Given the description of an element on the screen output the (x, y) to click on. 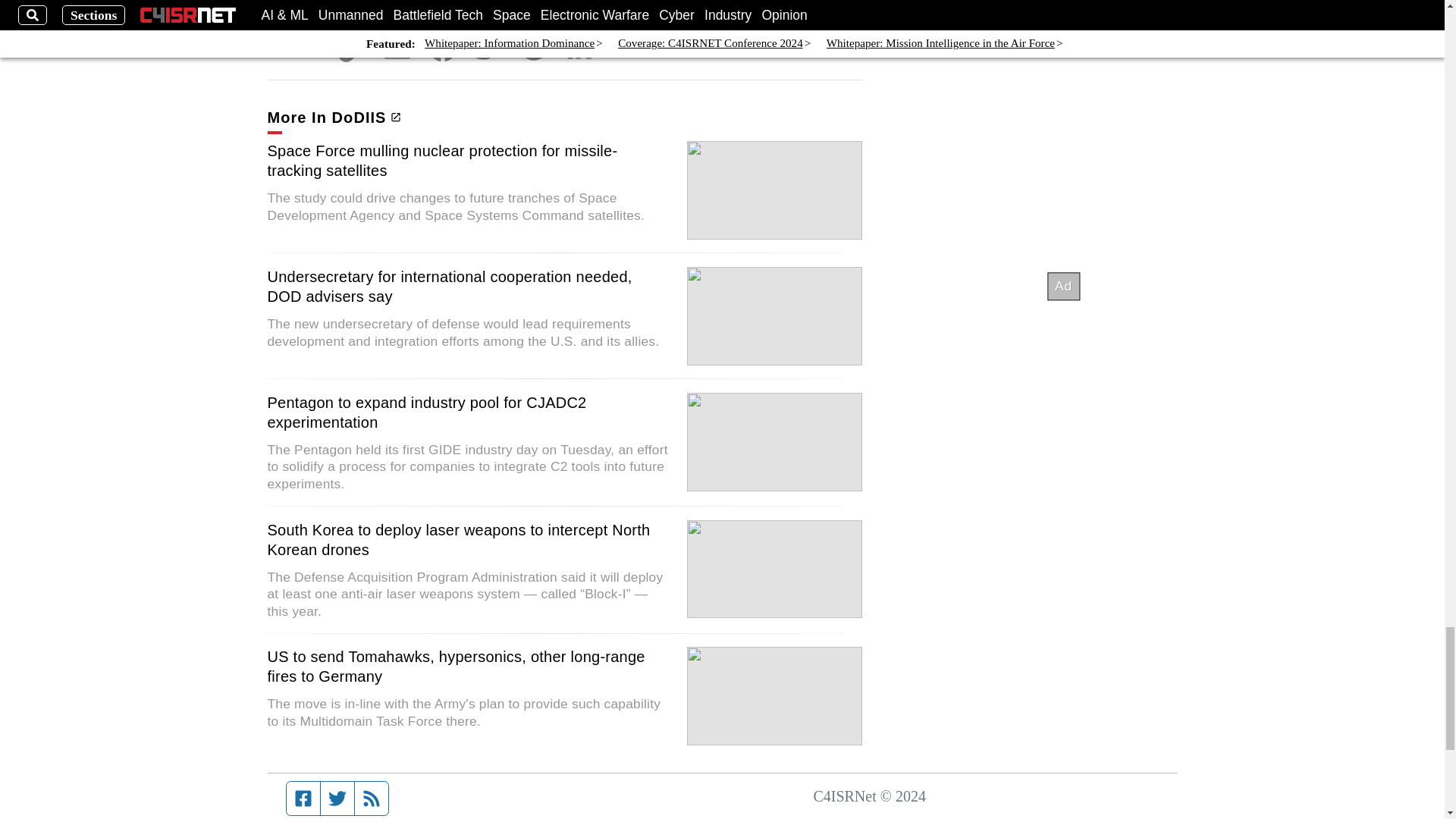
Facebook page (303, 798)
Twitter feed (336, 798)
RSS feed (371, 798)
